Given the description of an element on the screen output the (x, y) to click on. 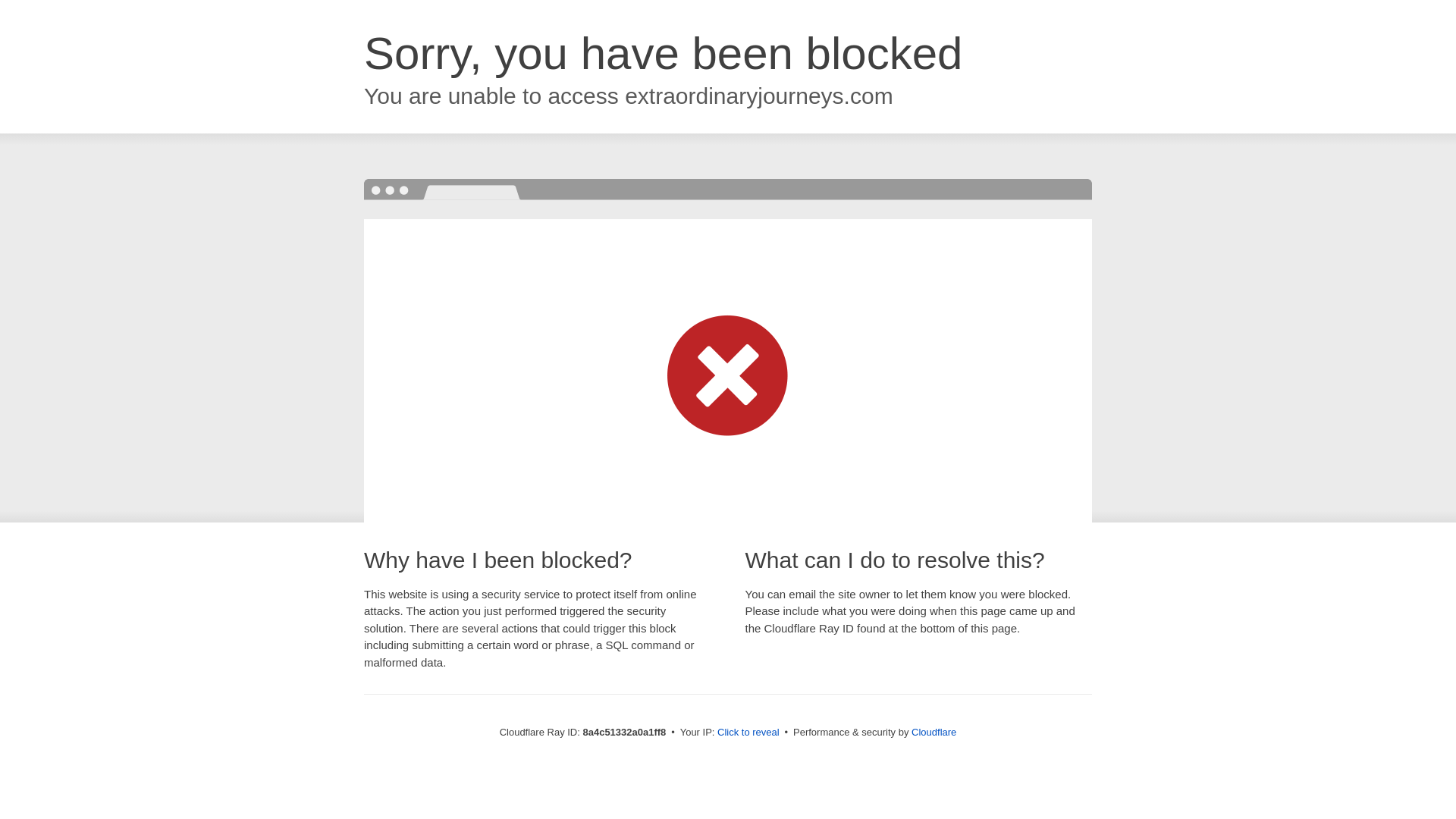
Cloudflare (933, 731)
Click to reveal (747, 732)
